Given the description of an element on the screen output the (x, y) to click on. 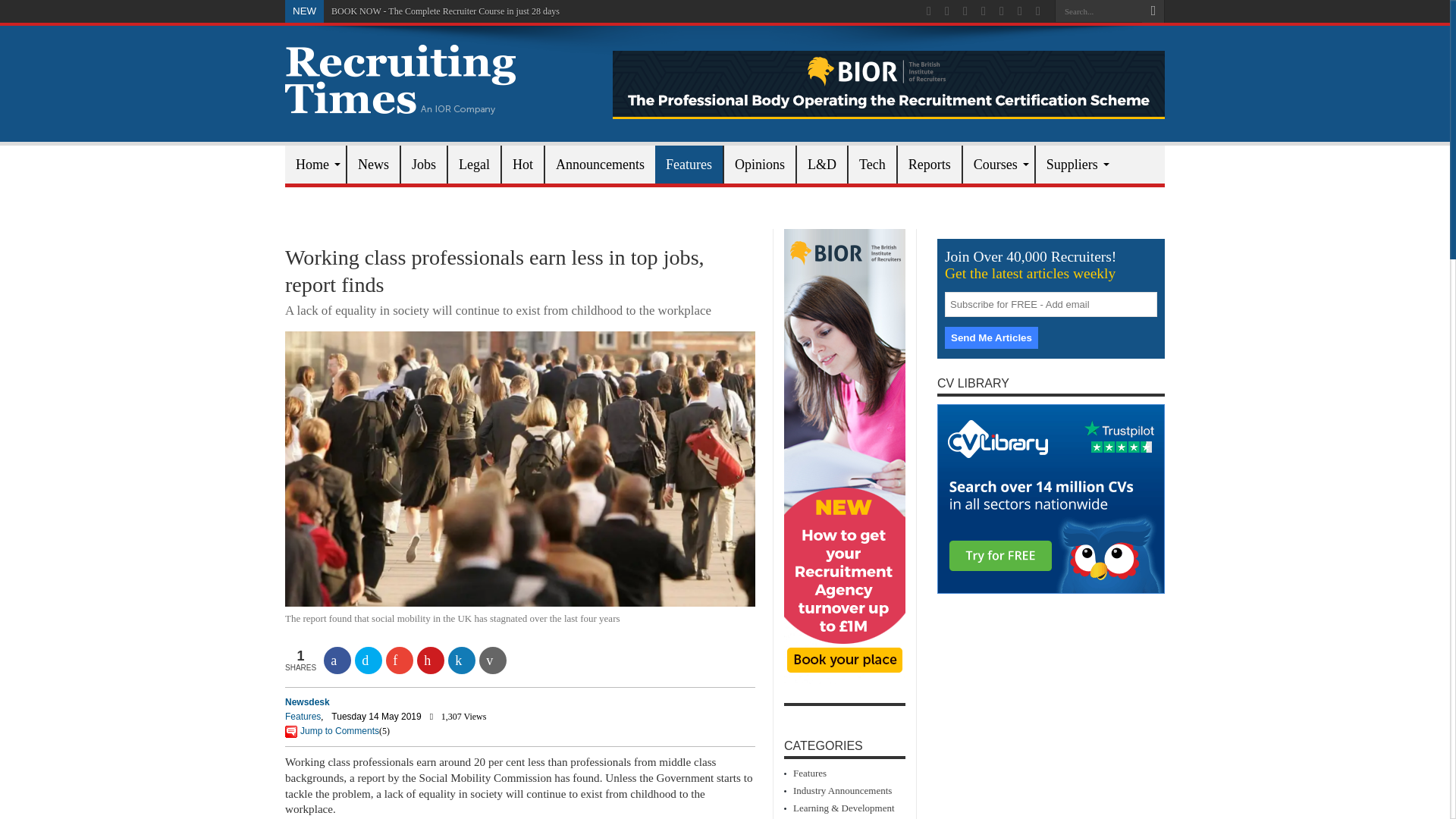
Opinions (758, 164)
Legal (473, 164)
Suppliers (1075, 164)
Search (1152, 11)
Tech (871, 164)
Jobs (423, 164)
Search... (1097, 11)
Courses (997, 164)
Features (688, 164)
BOOK NOW - The Complete Recruiter Course in just 28 days  (445, 11)
